Given the description of an element on the screen output the (x, y) to click on. 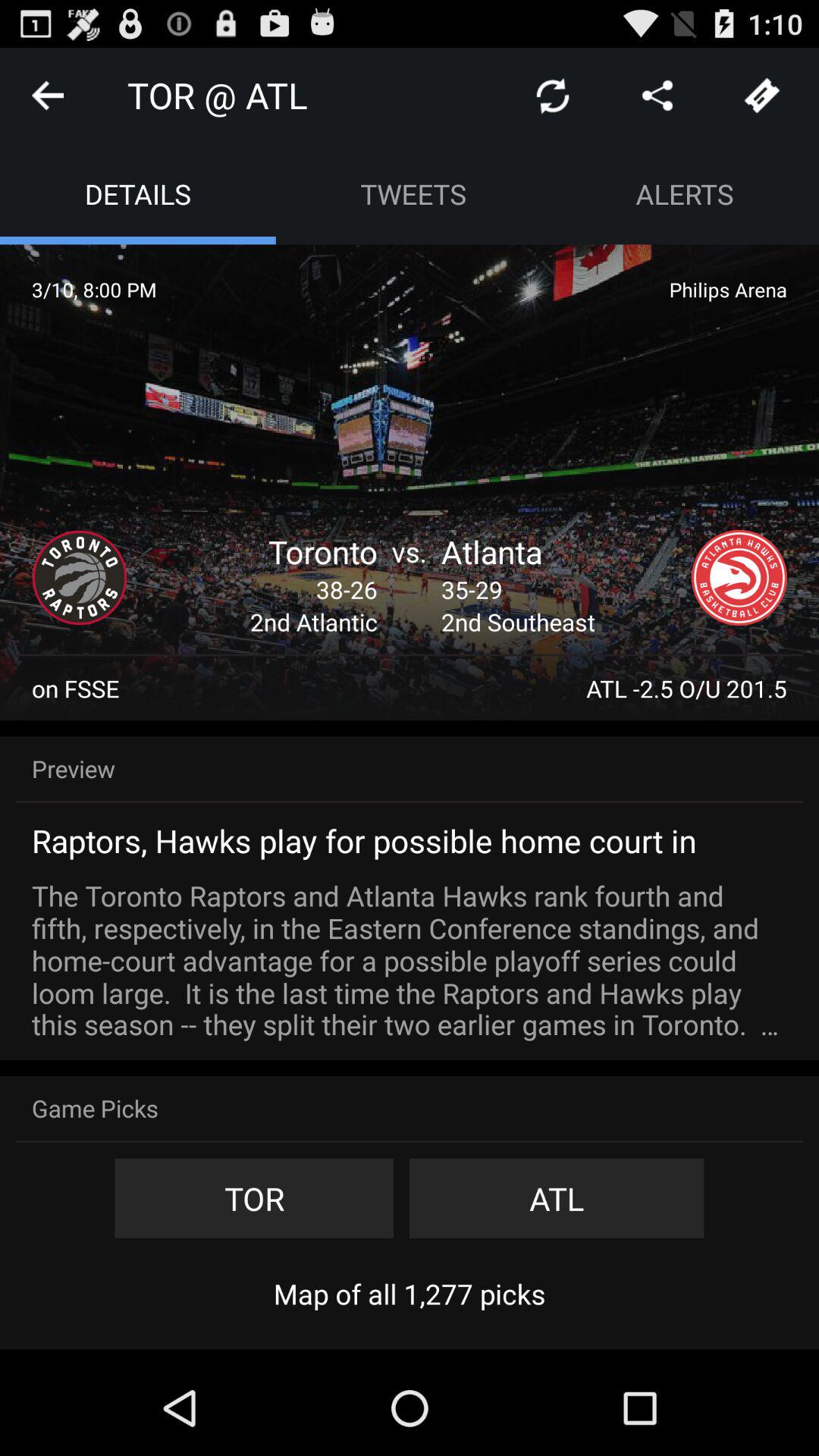
refresh (552, 95)
